Given the description of an element on the screen output the (x, y) to click on. 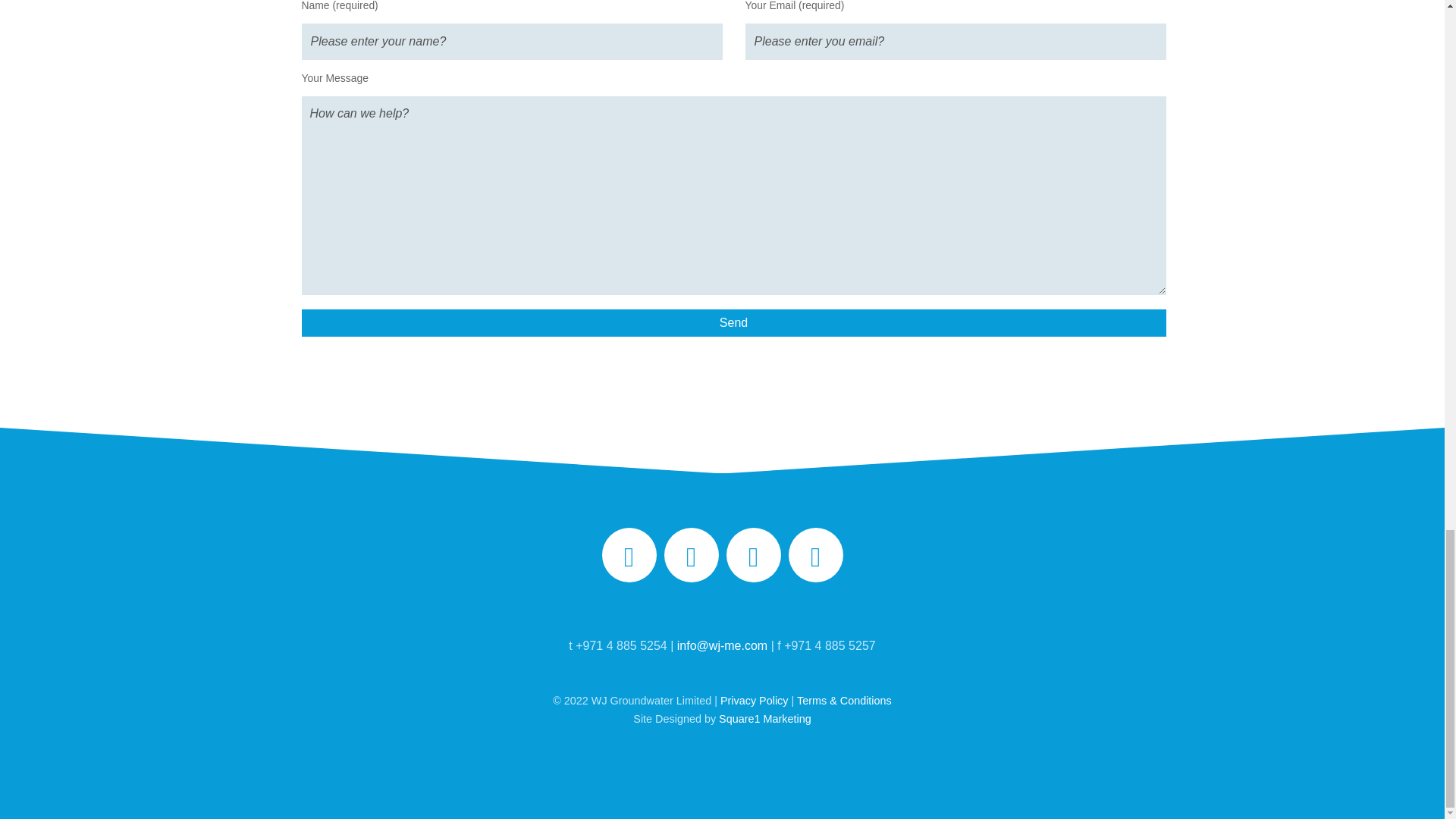
Send (733, 322)
Mute (1382, 803)
Play (19, 803)
